Given the description of an element on the screen output the (x, y) to click on. 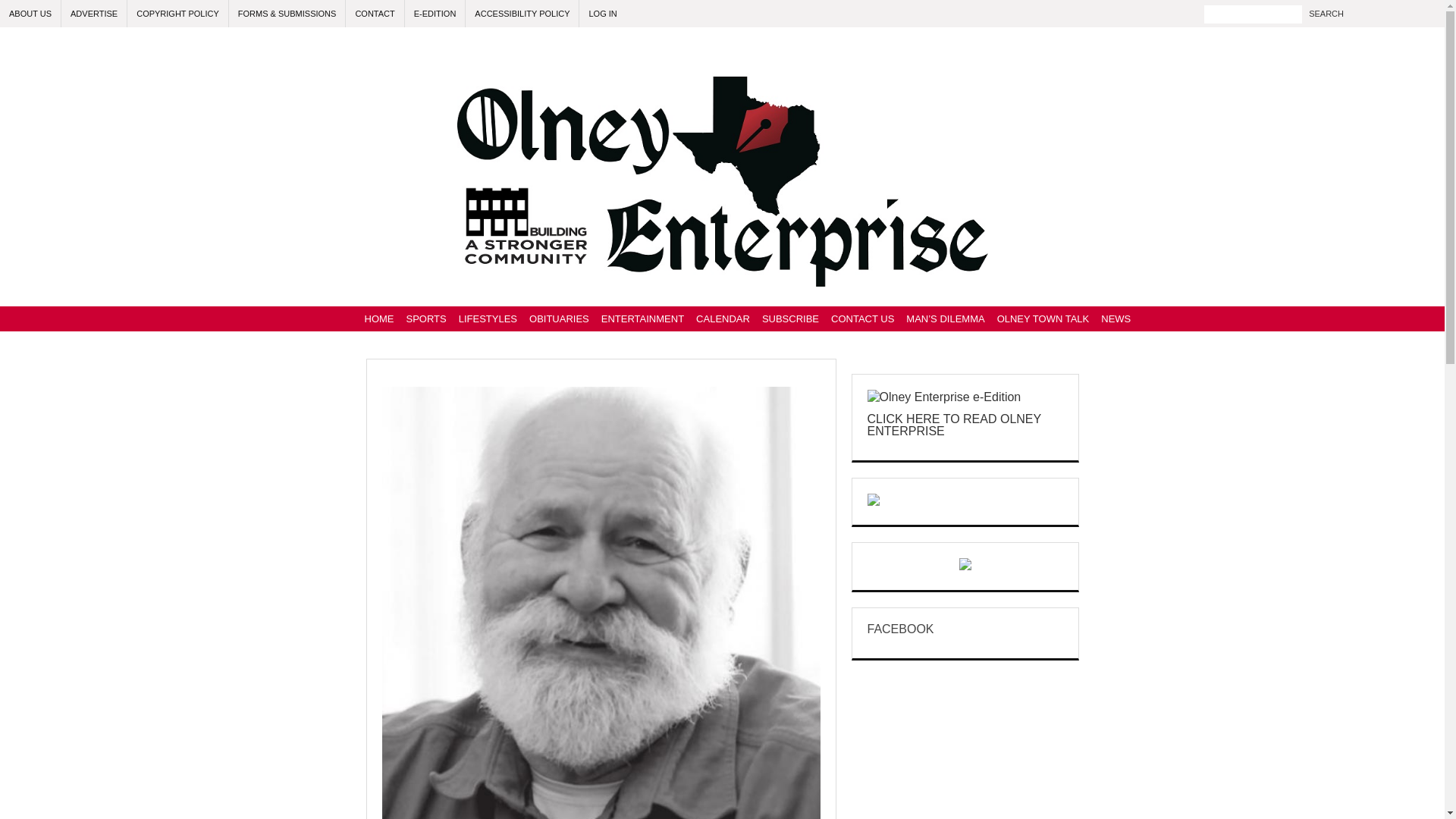
SPORTS (426, 318)
ADVERTISE (94, 13)
Enter the terms you wish to search for. (1252, 13)
News (1115, 318)
E-EDITION (434, 13)
ACCESSIBILITY POLICY (522, 13)
OLNEY TOWN TALK (1043, 318)
ABOUT US (30, 13)
Search (1326, 13)
Sports (426, 318)
Log In (602, 13)
LIfestyles (487, 318)
Entertainment (642, 318)
Search (1326, 13)
